Given the description of an element on the screen output the (x, y) to click on. 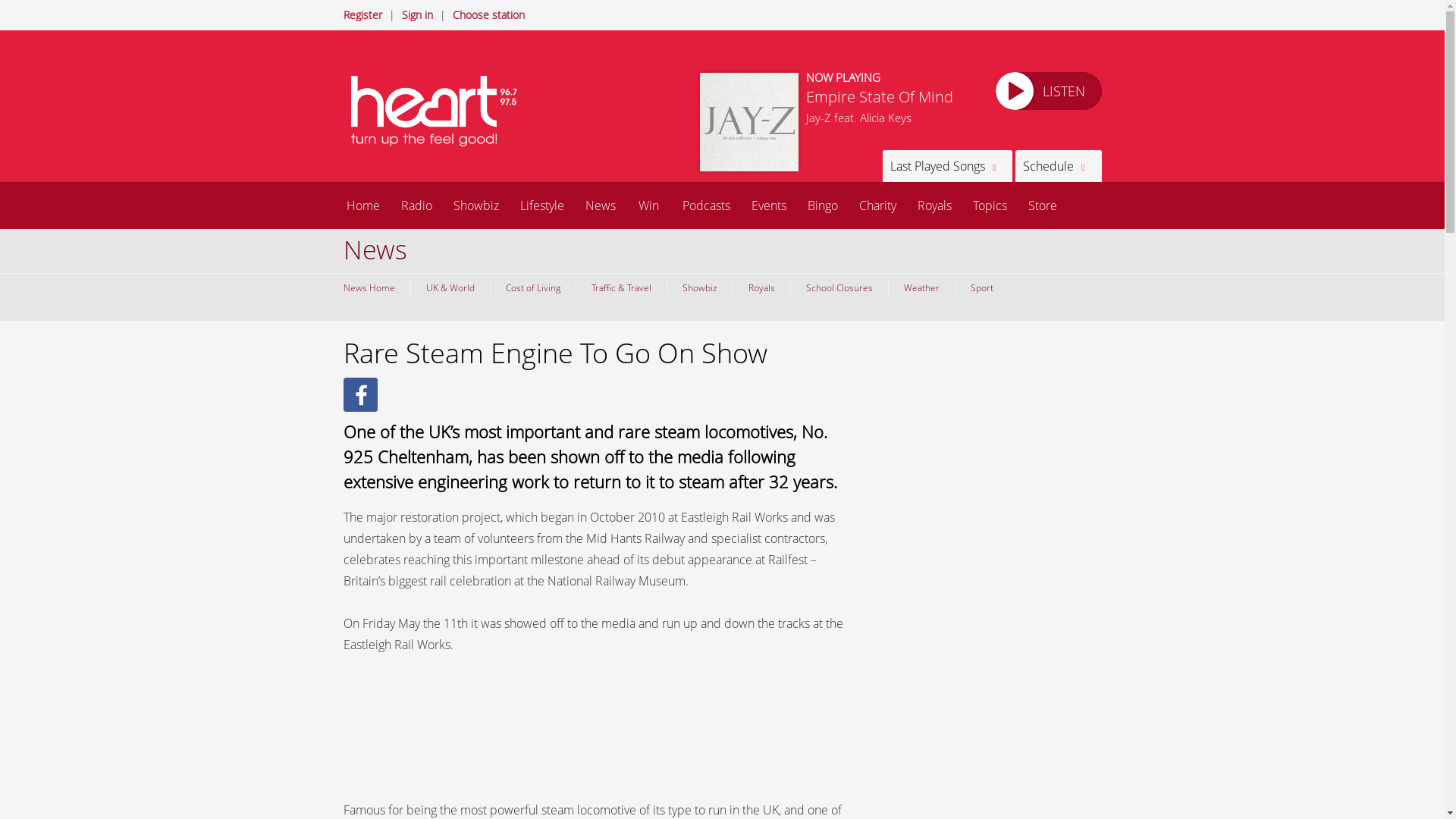
Schedule (1057, 165)
Cost of Living (532, 287)
Showbiz (698, 287)
Last Played Songs (946, 165)
Sport (980, 287)
News Home (371, 287)
Royals (761, 287)
School Closures (839, 287)
Podcasts (706, 205)
Radio (416, 205)
